Given the description of an element on the screen output the (x, y) to click on. 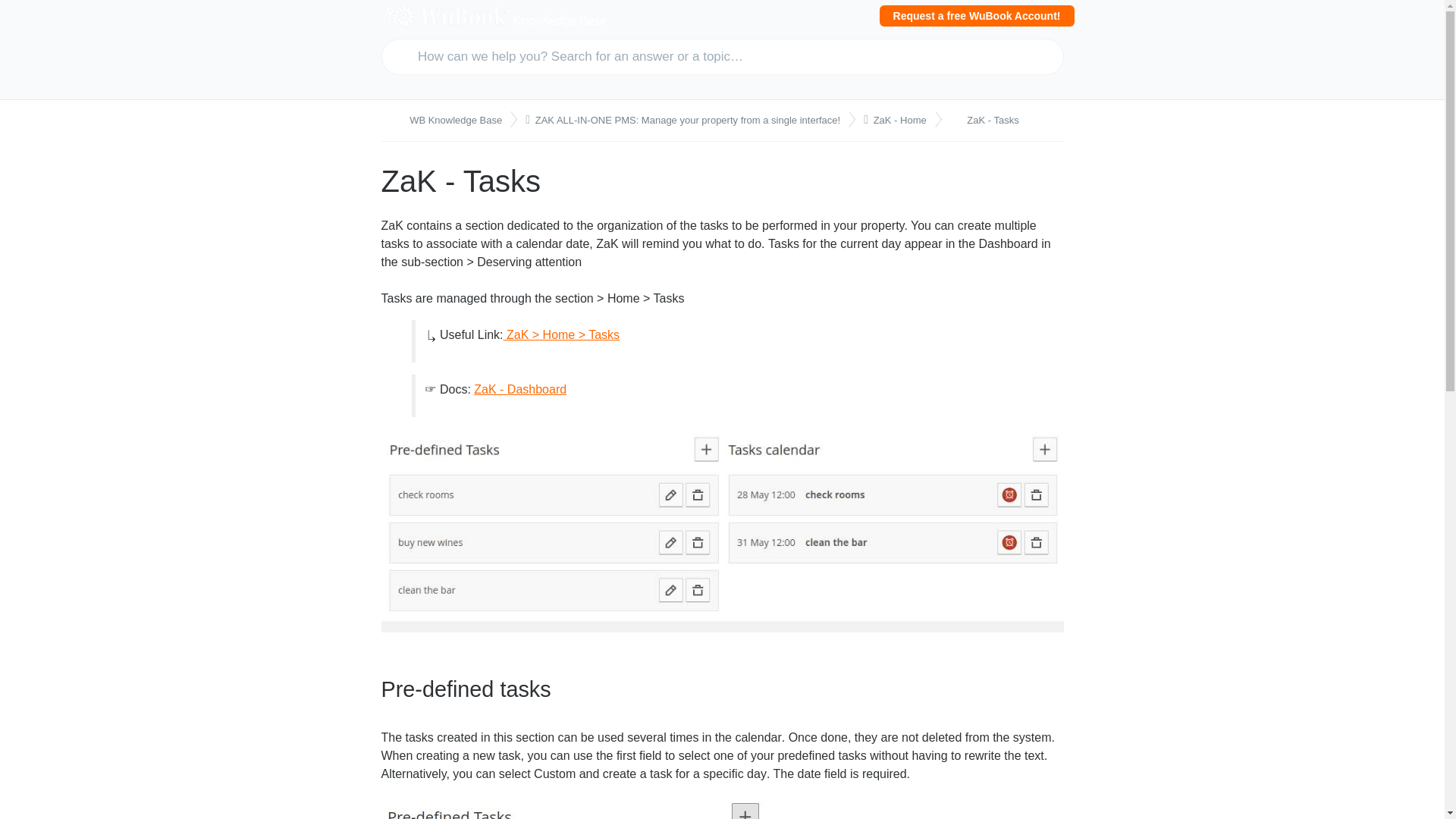
ZaK - Tasks (987, 120)
ZaK - Dashboard (520, 389)
Request a free WuBook Account! (976, 15)
WB Knowledge Base (448, 120)
